Given the description of an element on the screen output the (x, y) to click on. 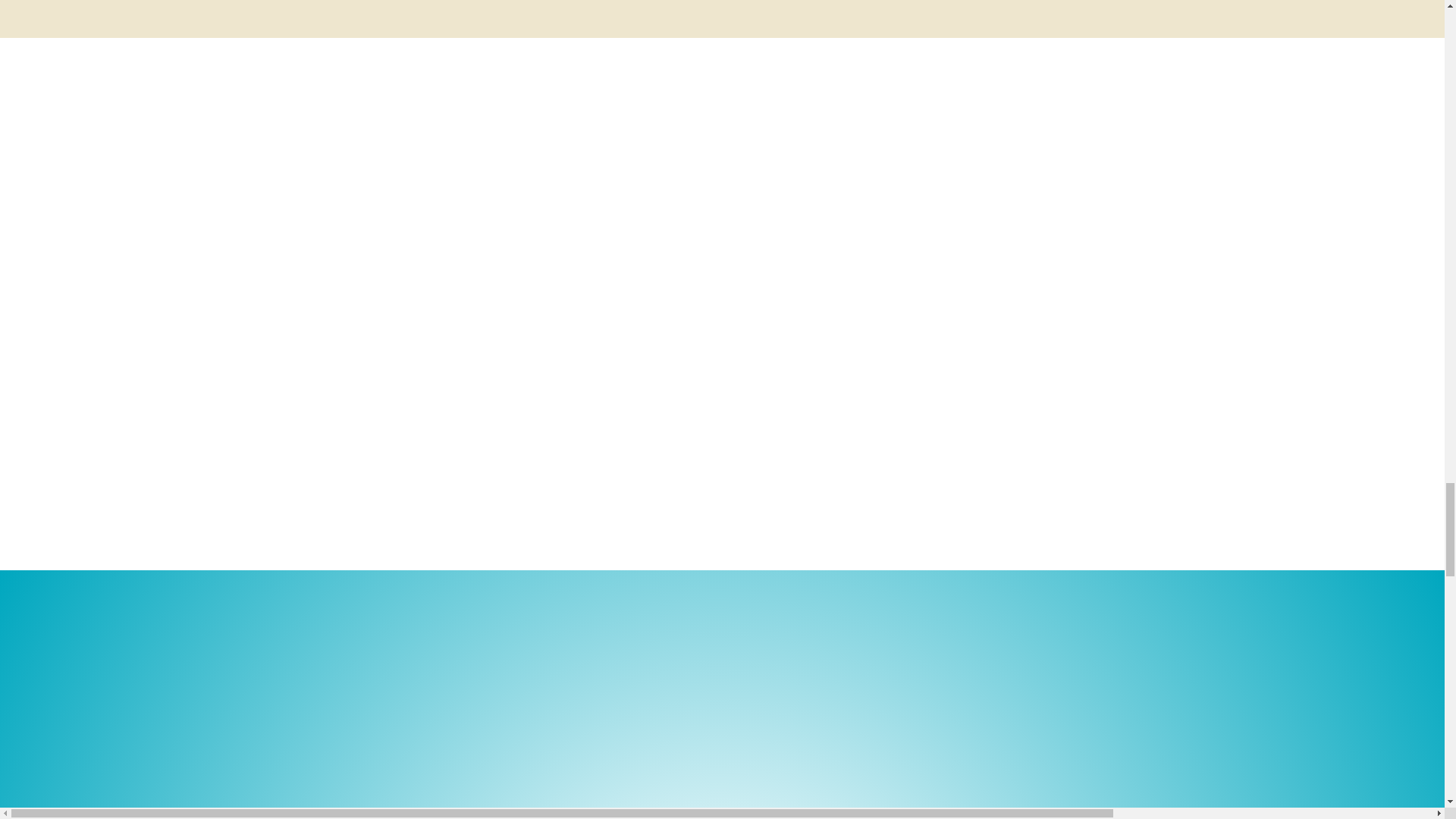
Ice-Cream (721, 38)
